Given the description of an element on the screen output the (x, y) to click on. 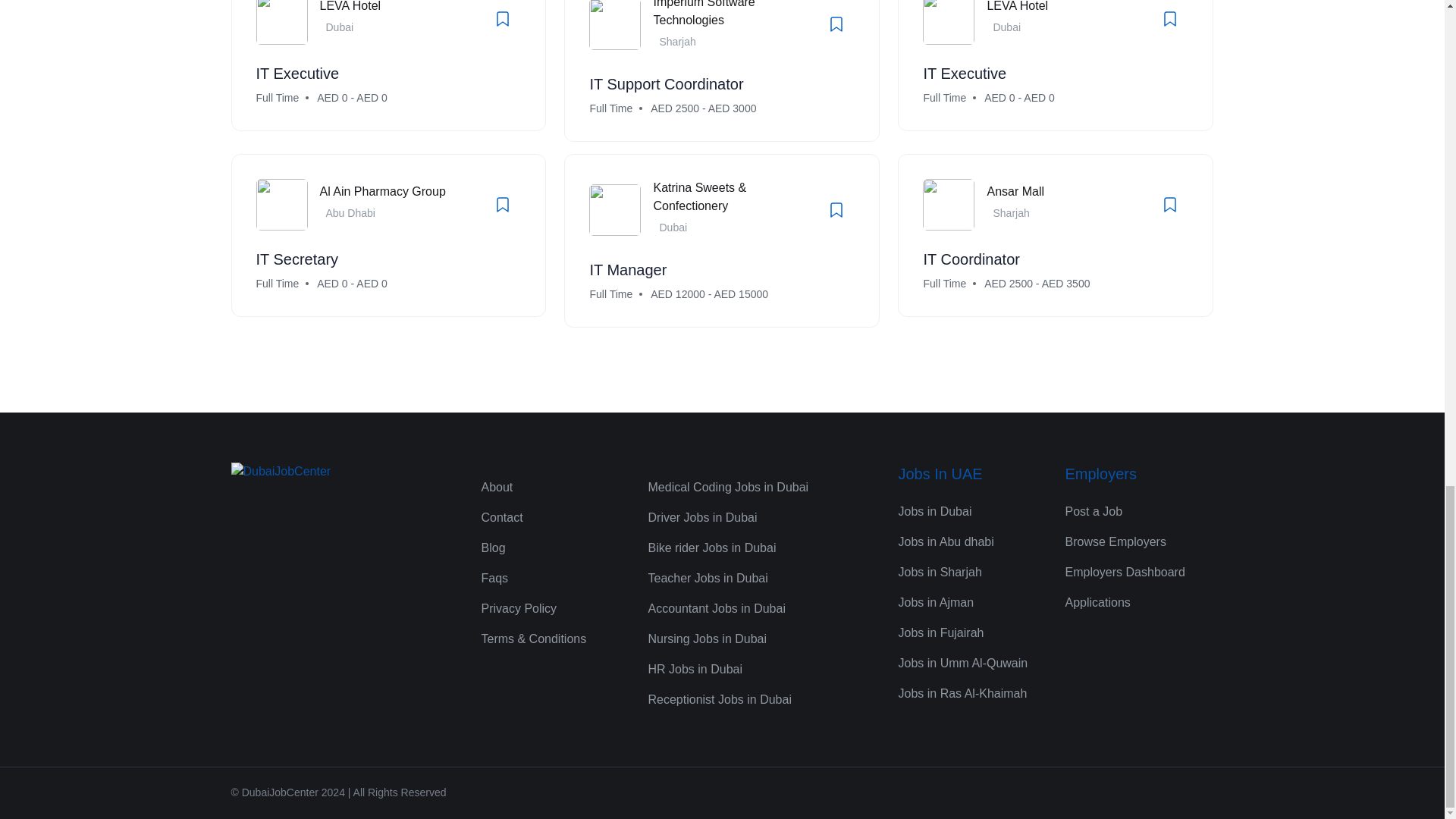
LEVA Hotel (350, 6)
